Given the description of an element on the screen output the (x, y) to click on. 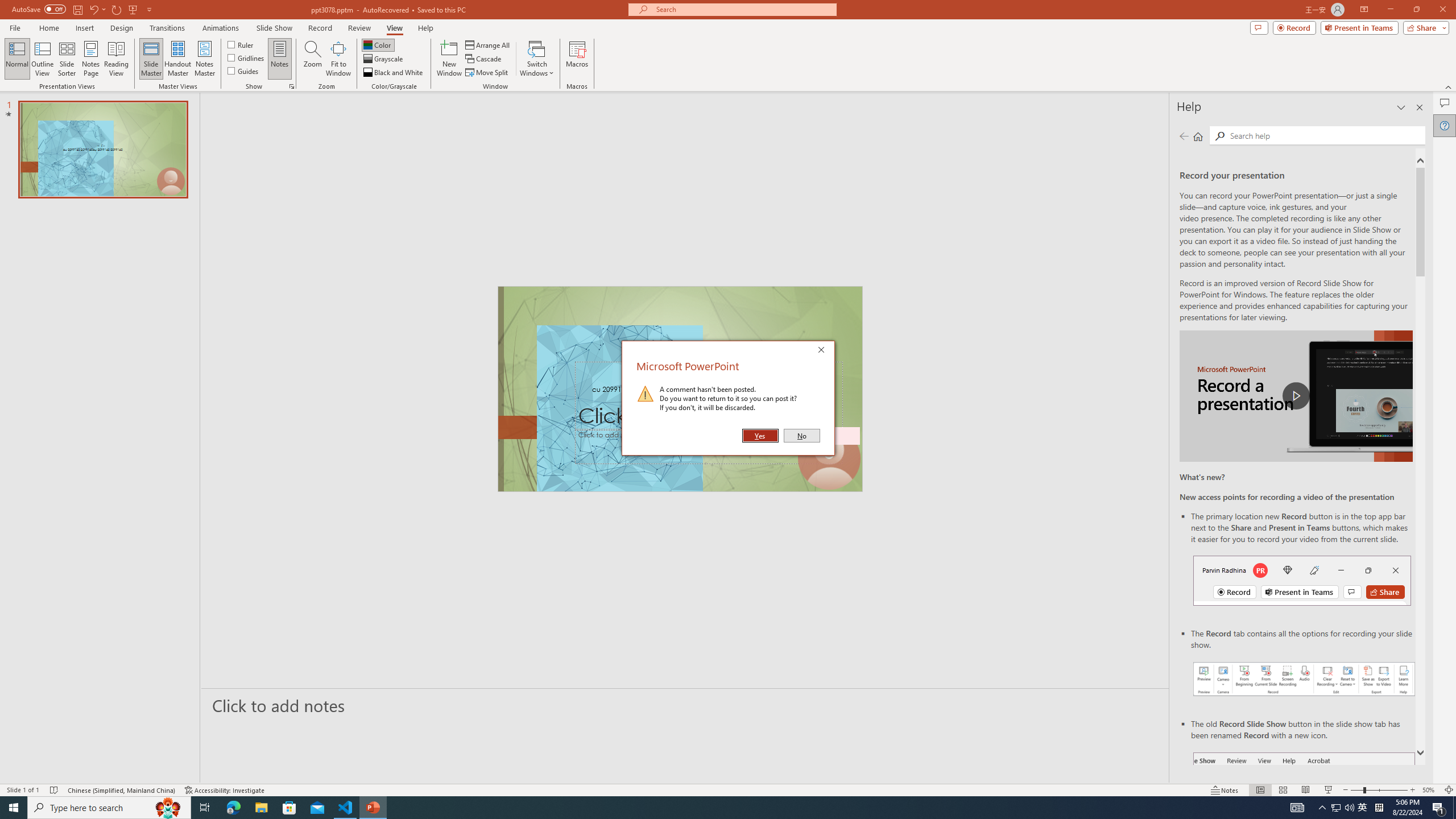
New Window (449, 58)
Action Center, 1 new notification (1439, 807)
Outline View (42, 58)
Notes Page (90, 58)
Grayscale (383, 58)
